Given the description of an element on the screen output the (x, y) to click on. 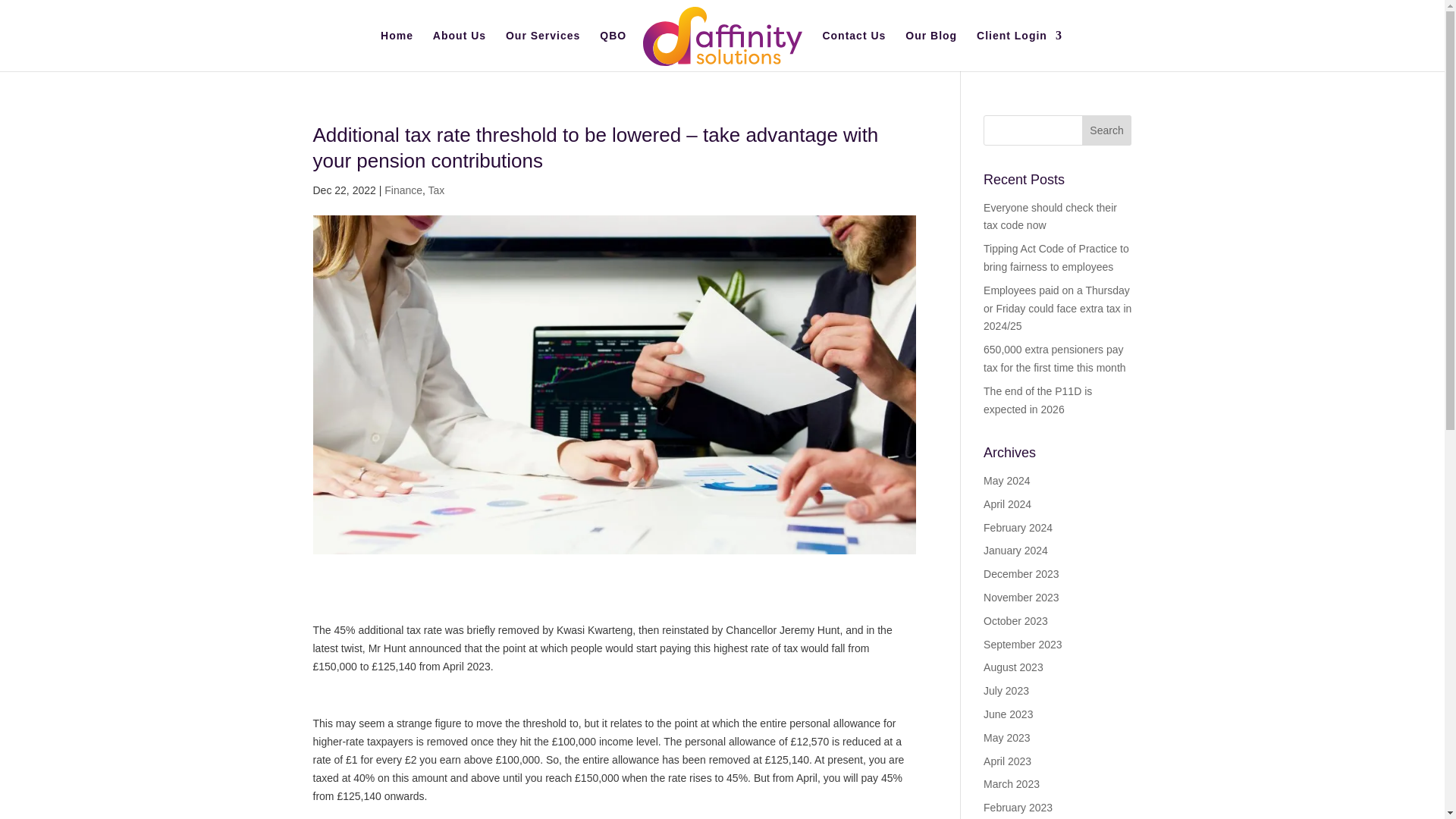
February 2024 (1018, 527)
April 2024 (1007, 503)
Finance (403, 190)
May 2024 (1006, 480)
Client Login (1019, 50)
Contact Us (853, 50)
The end of the P11D is expected in 2026 (1038, 399)
Our Blog (930, 50)
Our Services (542, 50)
